Given the description of an element on the screen output the (x, y) to click on. 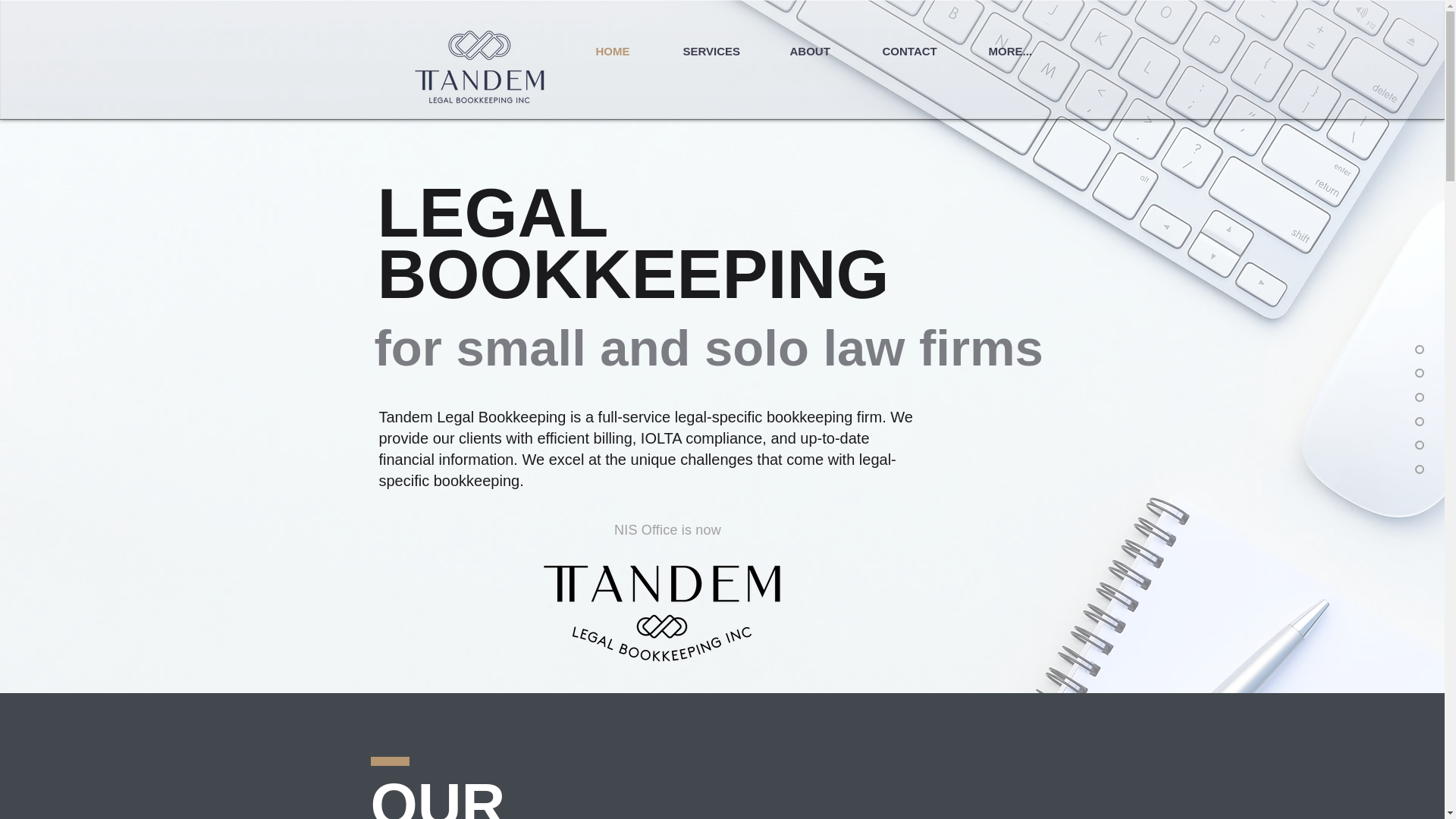
HOME (630, 51)
ABOUT (826, 51)
SERVICES (728, 51)
CONTACT (926, 51)
